Given the description of an element on the screen output the (x, y) to click on. 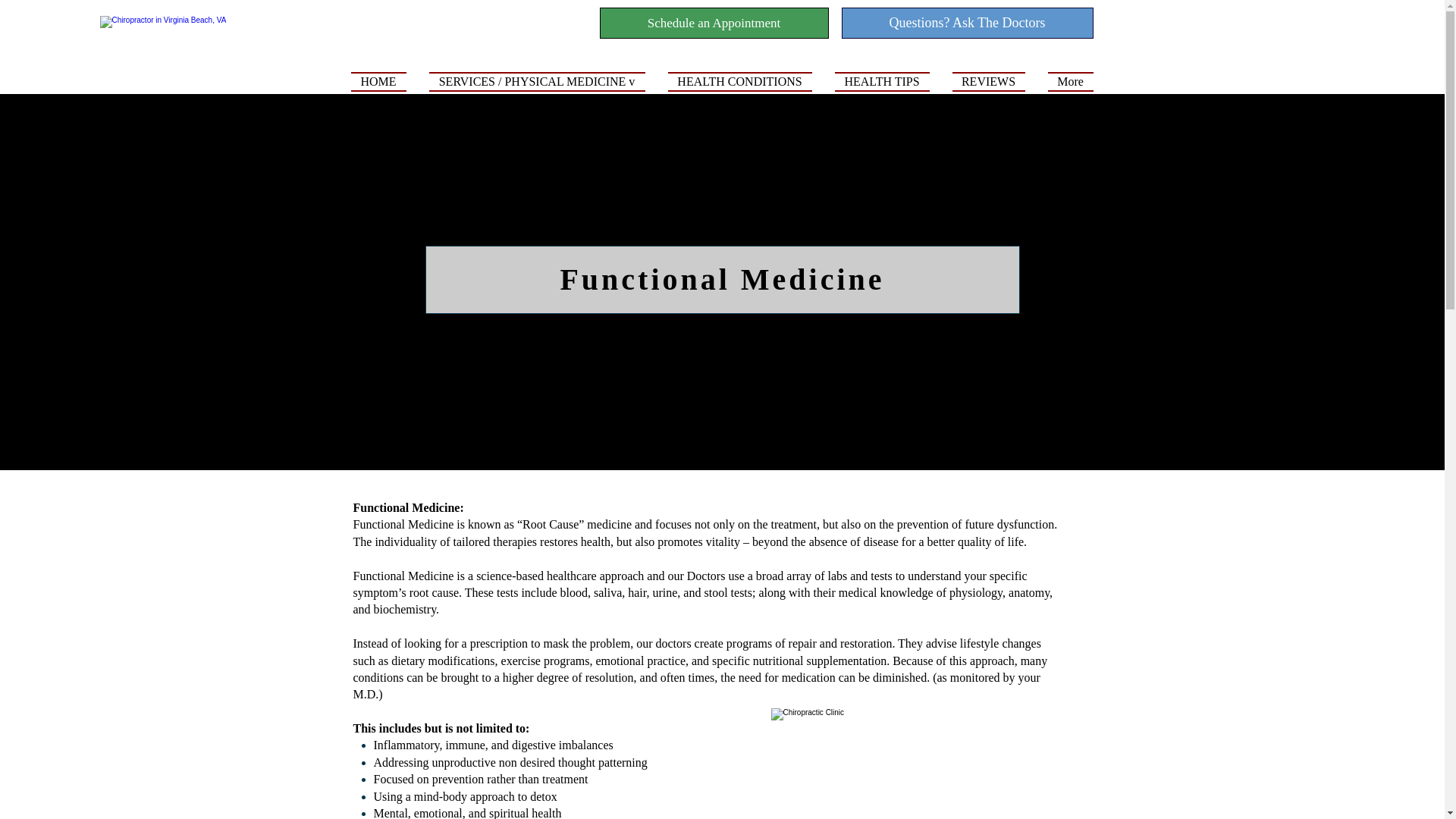
REVIEWS (987, 81)
Schedule an Appointment (713, 22)
HOME (383, 81)
HEALTH CONDITIONS (740, 81)
Questions? Ask The Doctors (967, 22)
